Given the description of an element on the screen output the (x, y) to click on. 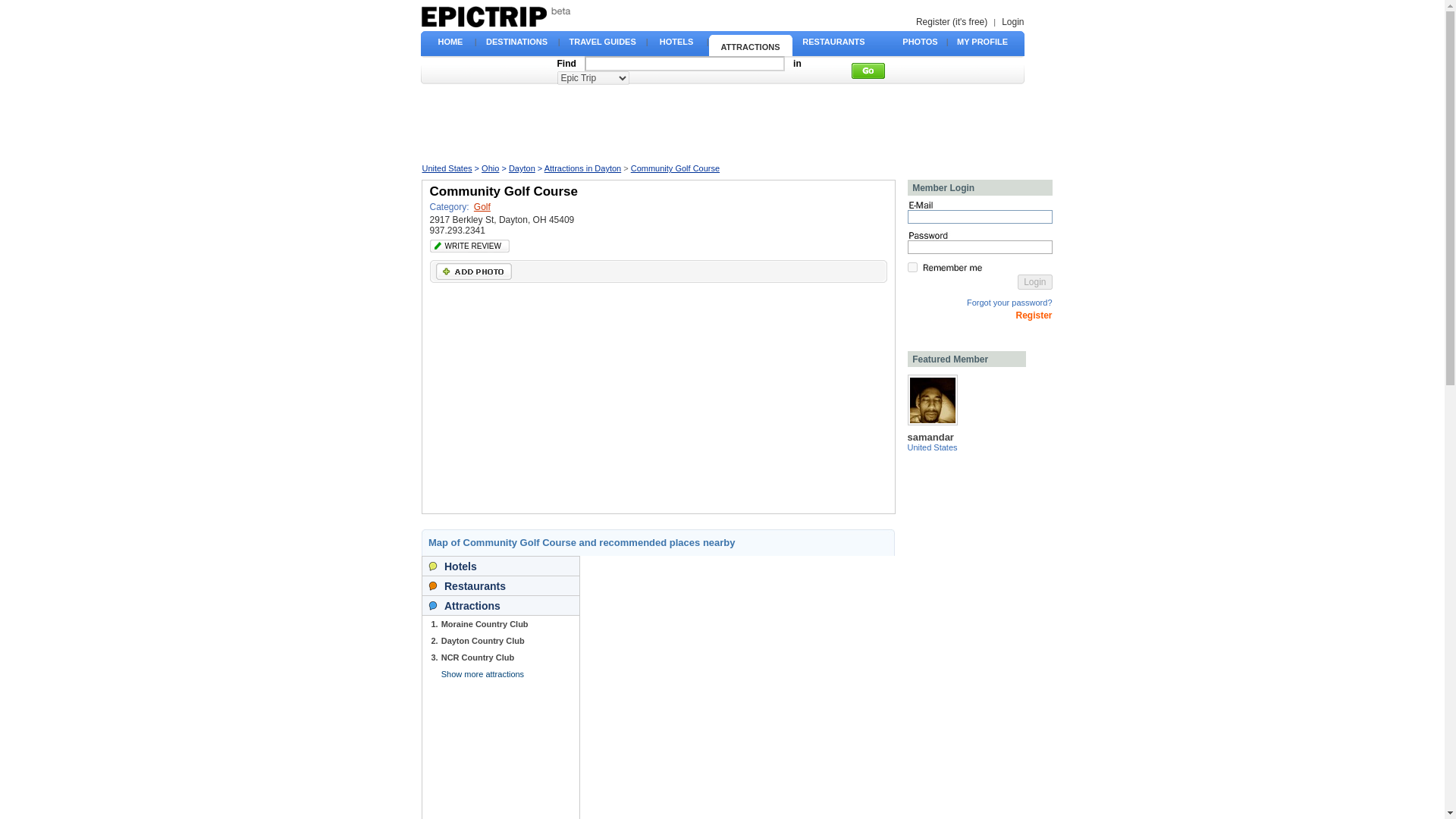
Login (1034, 281)
Community Golf Course (674, 167)
Dayton (521, 167)
PHOTOS (919, 40)
TRAVEL GUIDES (602, 40)
Advertisement (721, 122)
DESTINATIONS (516, 40)
Login (1012, 21)
United States (446, 167)
Advertisement (556, 399)
HOME (450, 40)
Show more attractions (482, 673)
Ohio (490, 167)
WRITE REVIEW (464, 245)
Golf (482, 206)
